Given the description of an element on the screen output the (x, y) to click on. 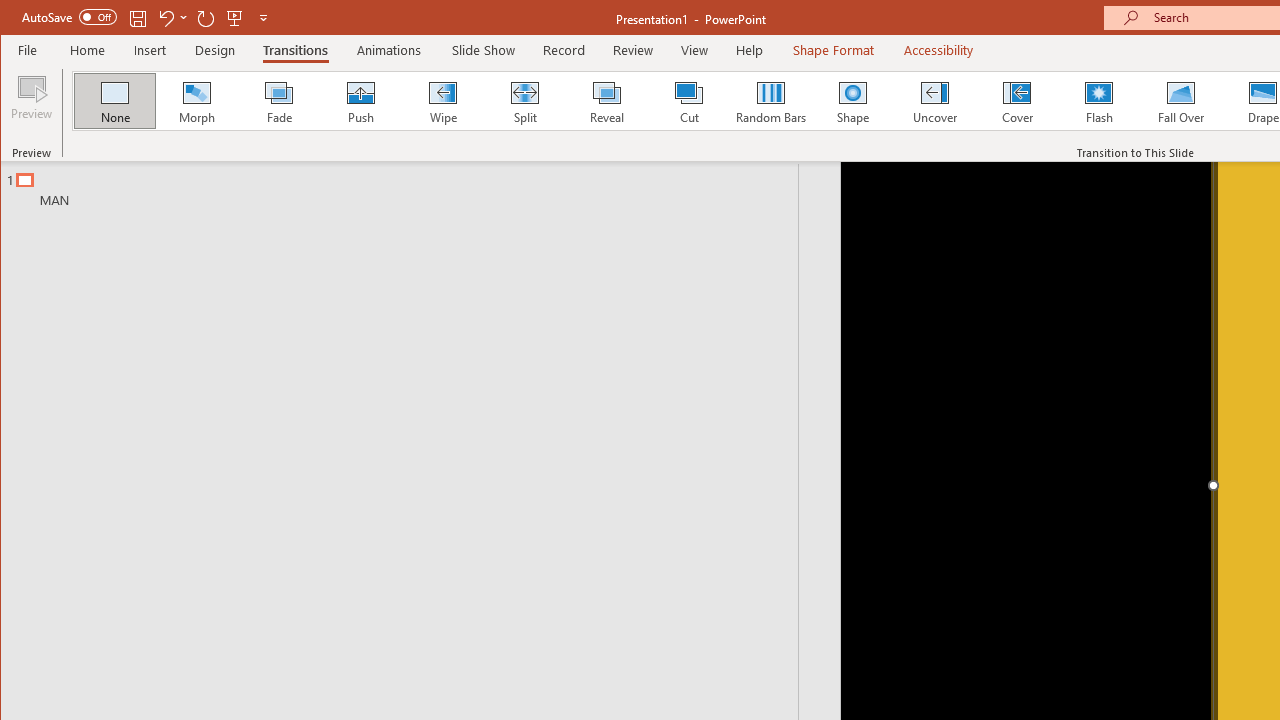
Wipe (442, 100)
More Options (183, 17)
From Beginning (235, 17)
Record (563, 50)
Insert (150, 50)
Home (87, 50)
Cover (1016, 100)
Split (524, 100)
Accessibility (938, 50)
System (18, 18)
Fall Over (1181, 100)
Undo (165, 17)
Quick Access Toolbar (146, 17)
Uncover (934, 100)
